Given the description of an element on the screen output the (x, y) to click on. 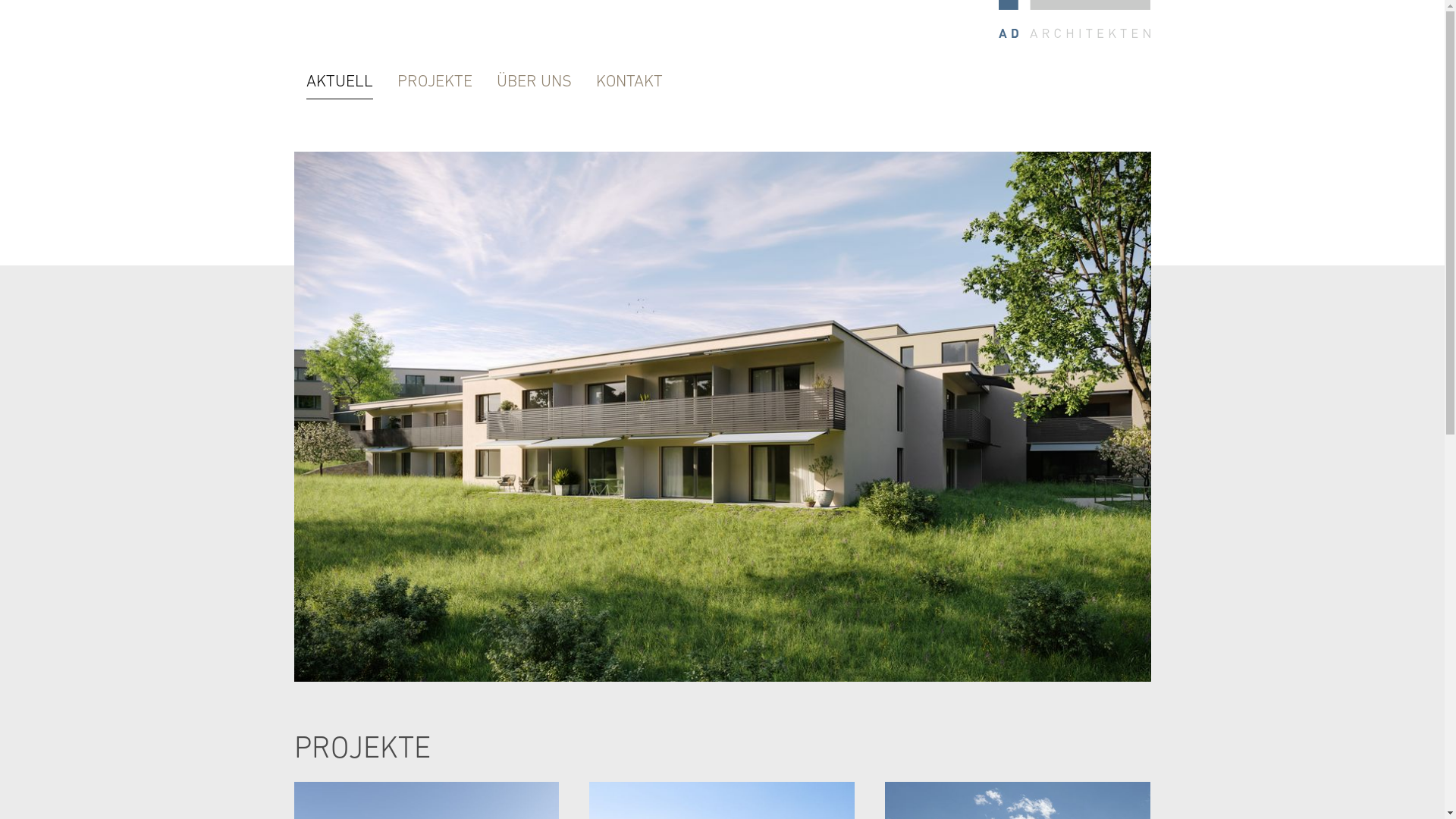
KONTAKT Element type: text (629, 80)
PROJEKTE Element type: text (434, 80)
AKTUELL Element type: text (339, 81)
